Given the description of an element on the screen output the (x, y) to click on. 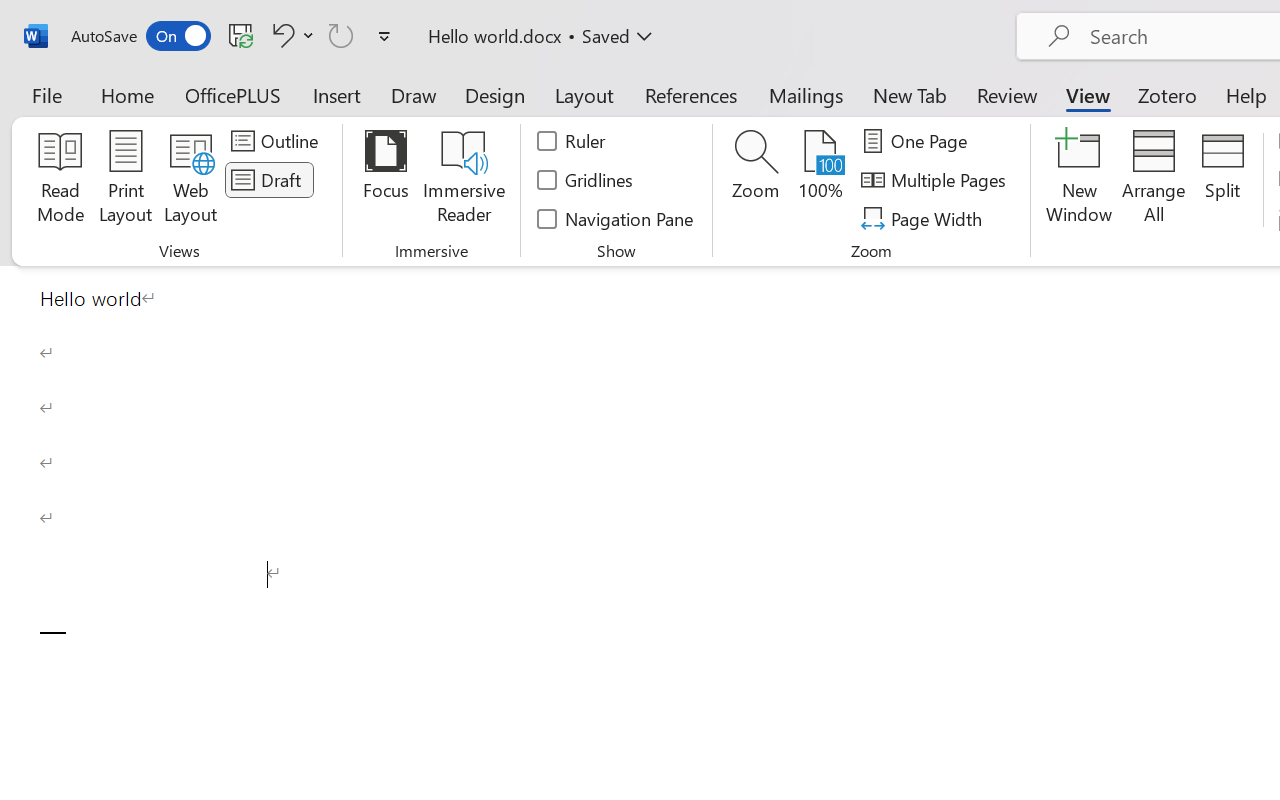
Customize Quick Access Toolbar (384, 35)
Draw (413, 94)
New Tab (909, 94)
Insert (337, 94)
Multiple Pages (936, 179)
Read Mode (60, 179)
Immersive Reader (464, 179)
Layout (584, 94)
Quick Access Toolbar (233, 36)
Focus (385, 179)
Undo Paragraph Formatting (290, 35)
Zoom... (755, 179)
File Tab (46, 94)
Design (495, 94)
More Options (308, 35)
